Given the description of an element on the screen output the (x, y) to click on. 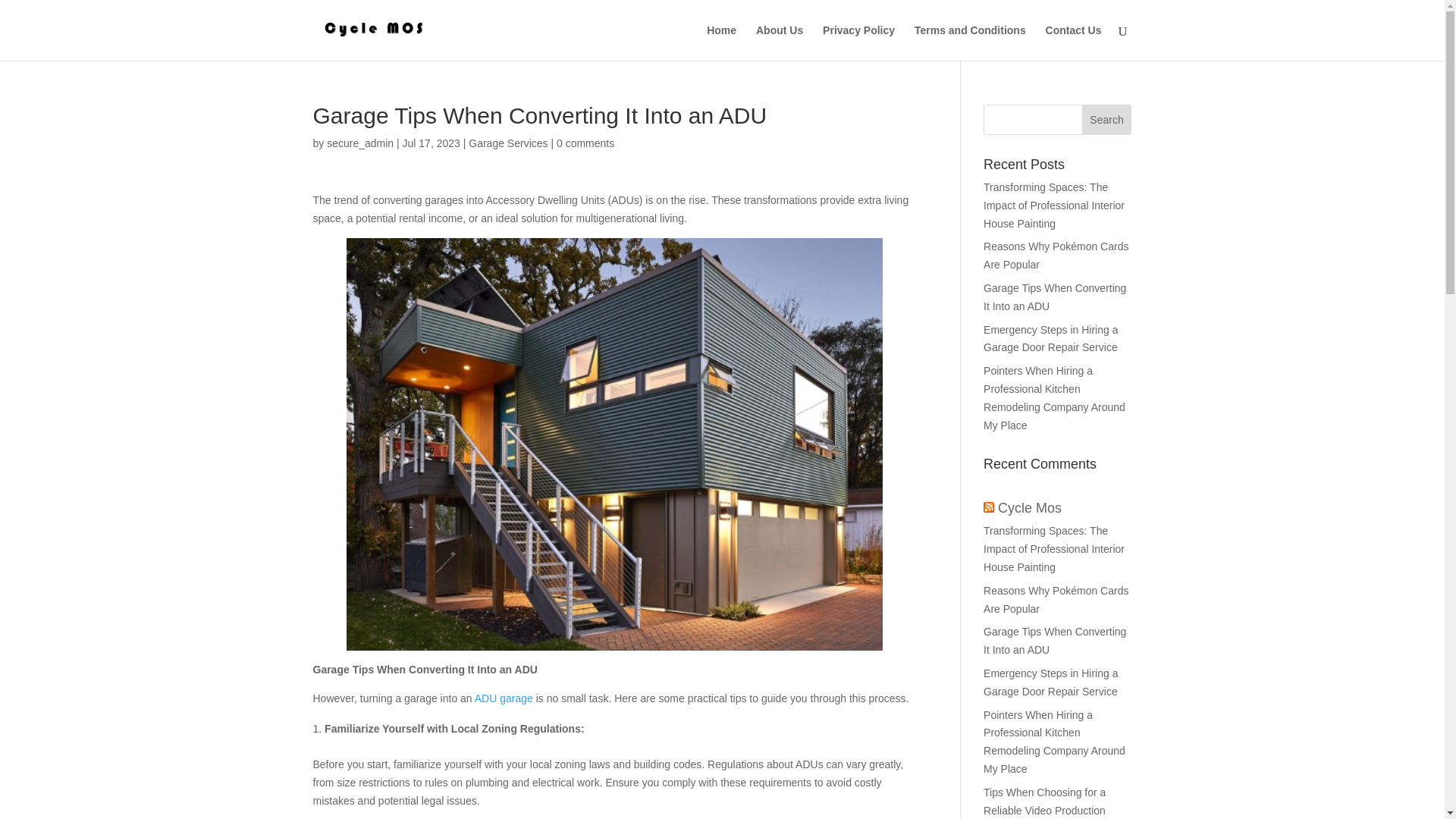
Garage Tips When Converting It Into an ADU (1054, 296)
ADU garage (503, 698)
Privacy Policy (858, 42)
Garage Services (507, 143)
0 comments (585, 143)
About Us (779, 42)
Search (1106, 119)
Contact Us (1073, 42)
Terms and Conditions (970, 42)
Garage Tips When Converting It Into an ADU (1054, 640)
Emergency Steps in Hiring a Garage Door Repair Service (1051, 682)
